Given the description of an element on the screen output the (x, y) to click on. 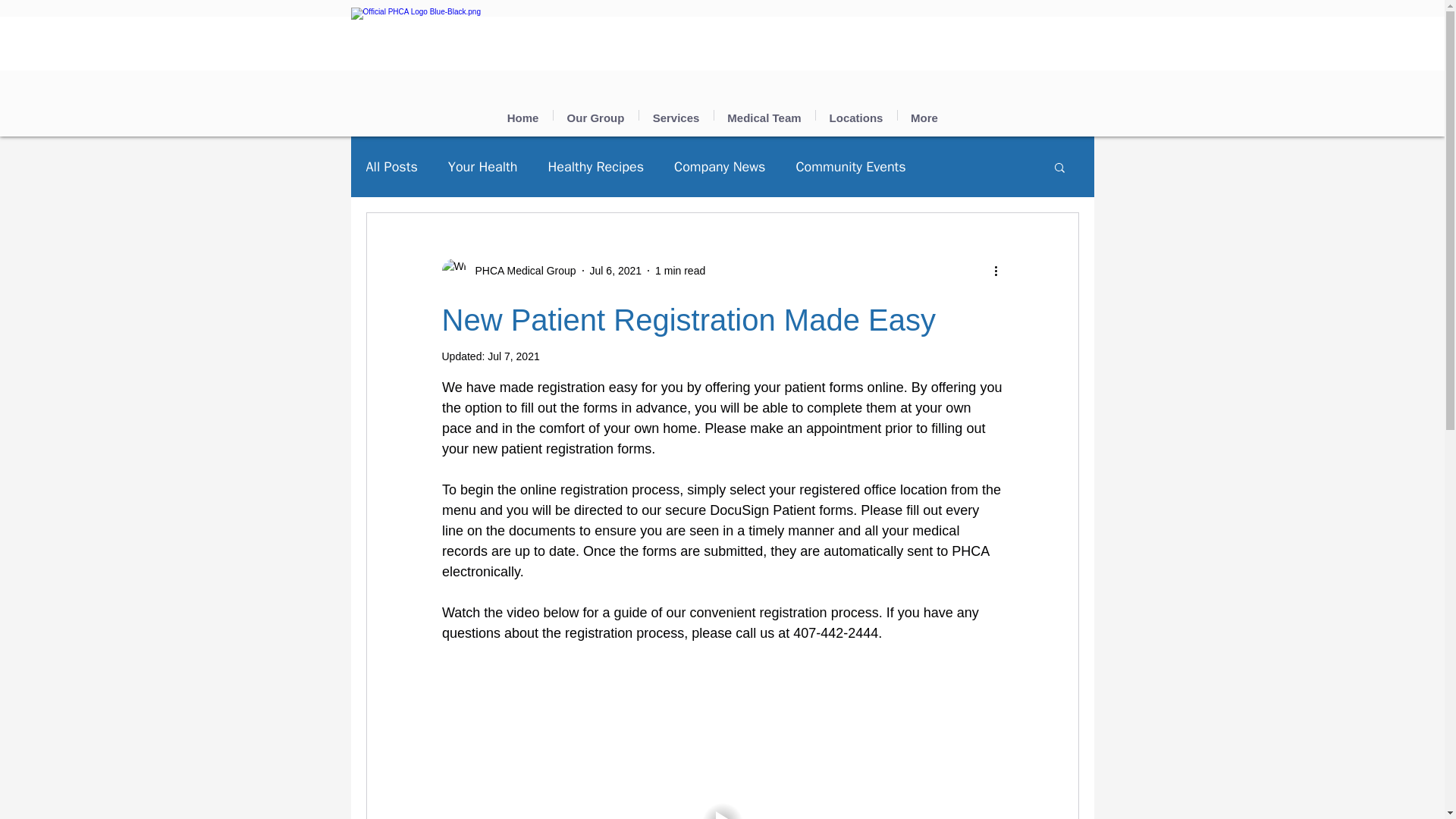
Our Group (596, 114)
Jul 6, 2021 (615, 269)
PHC Medical Group (423, 44)
Medical Team (764, 114)
Jul 7, 2021 (513, 356)
All Posts (390, 167)
Healthy Recipes (595, 167)
Company News (719, 167)
1 min read (679, 269)
Your Health (483, 167)
